Given the description of an element on the screen output the (x, y) to click on. 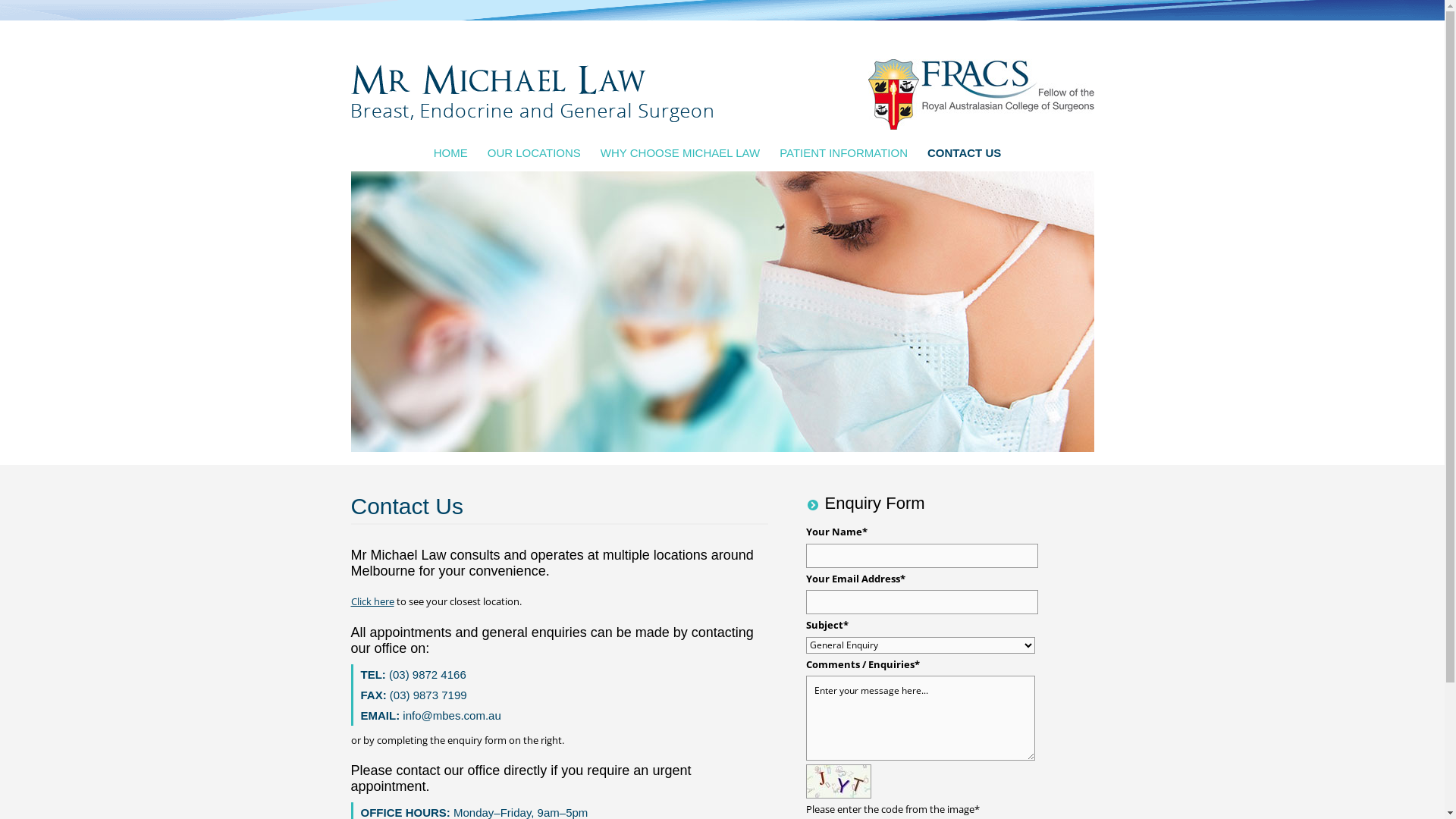
Mr Michael Law | Breast, Endocrine and General Surgeon Element type: text (531, 93)
HOME Element type: text (455, 152)
WHY CHOOSE MICHAEL LAW Element type: text (679, 152)
Click here Element type: text (371, 601)
PATIENT INFORMATION Element type: text (843, 152)
No Bots allowed Element type: hover (837, 781)
OUR LOCATIONS Element type: text (533, 152)
CONTACT US Element type: text (963, 152)
